Given the description of an element on the screen output the (x, y) to click on. 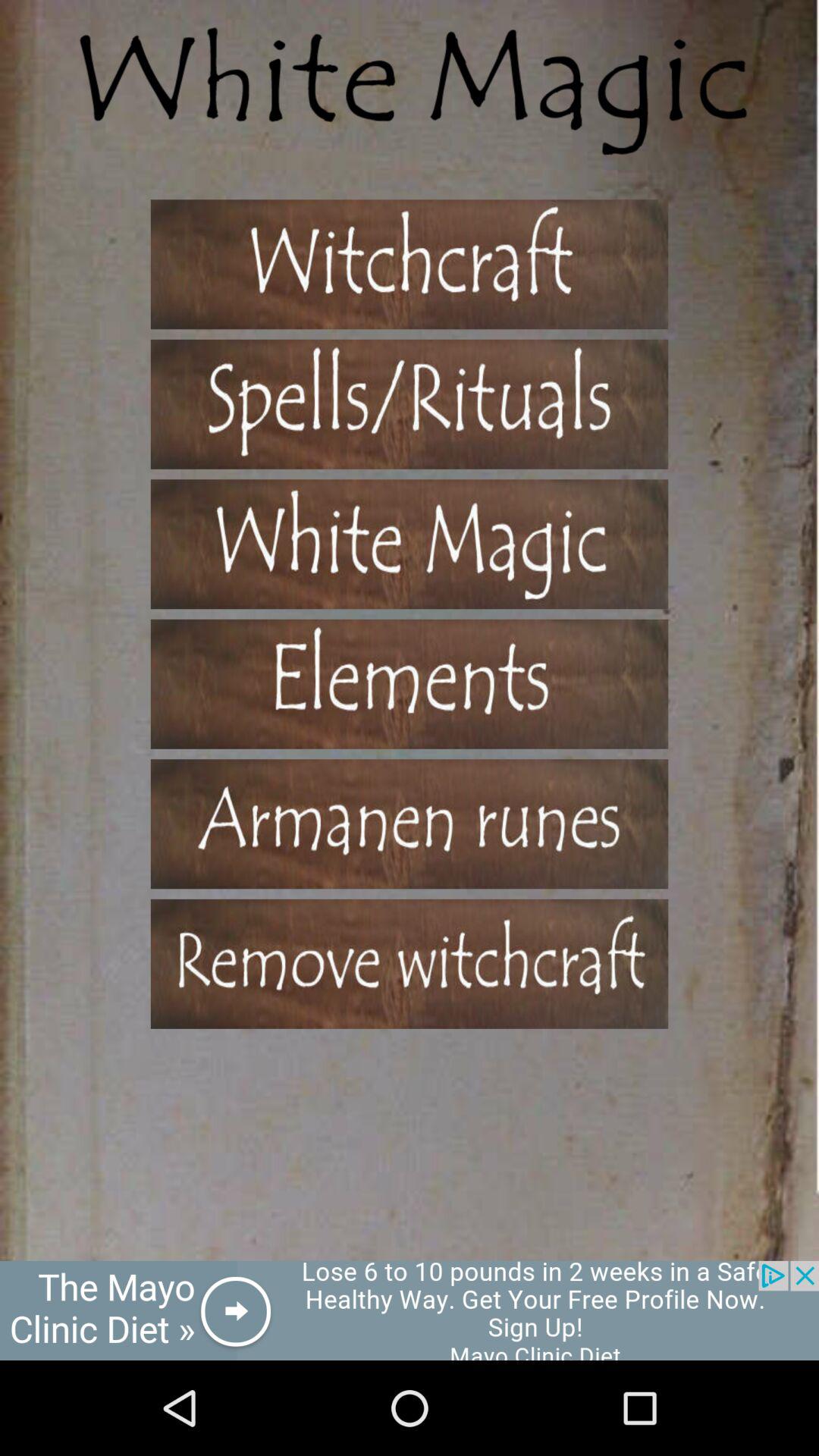
view 'elements option (409, 684)
